Given the description of an element on the screen output the (x, y) to click on. 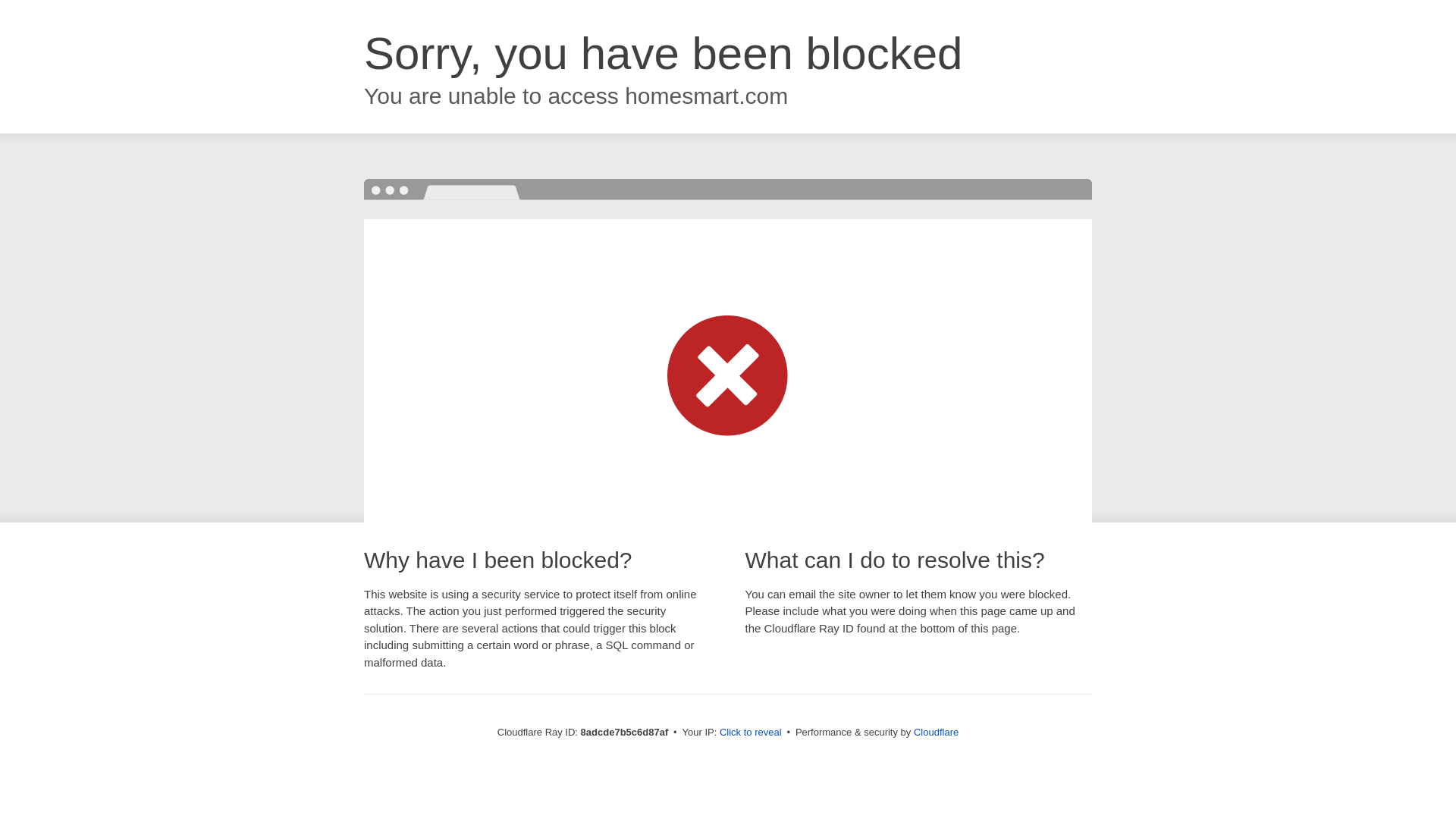
Click to reveal (750, 732)
Cloudflare (936, 731)
